Given the description of an element on the screen output the (x, y) to click on. 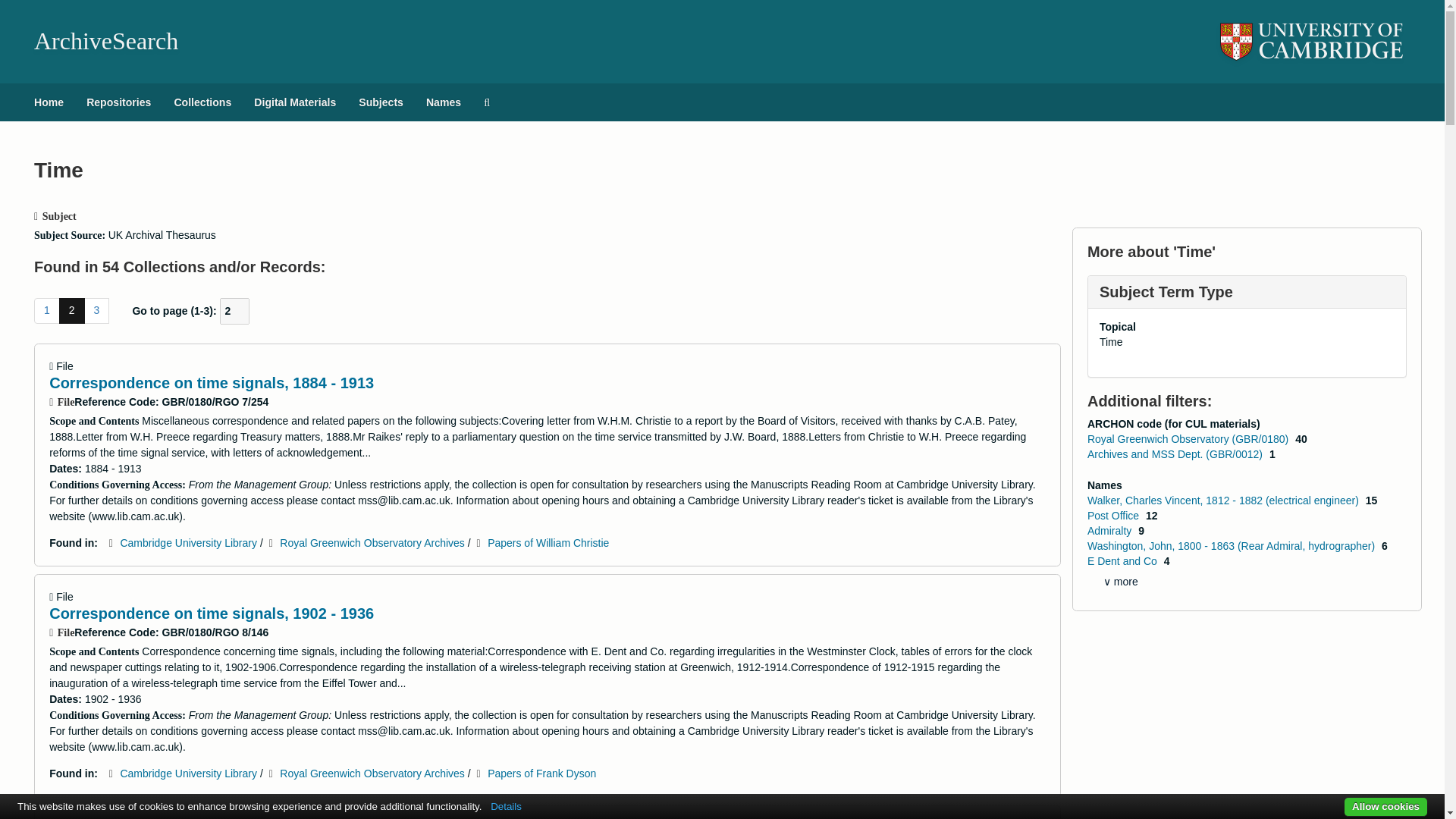
Papers of Frank Dyson (541, 773)
Return to the ArchiveSearch homepage (105, 40)
Filter By 'Post Office' (1114, 515)
Subjects (380, 102)
ArchiveSearch (105, 40)
2 (234, 311)
2 (71, 310)
Digital Materials (295, 102)
Papers of William Christie (547, 542)
Names (442, 102)
